Given the description of an element on the screen output the (x, y) to click on. 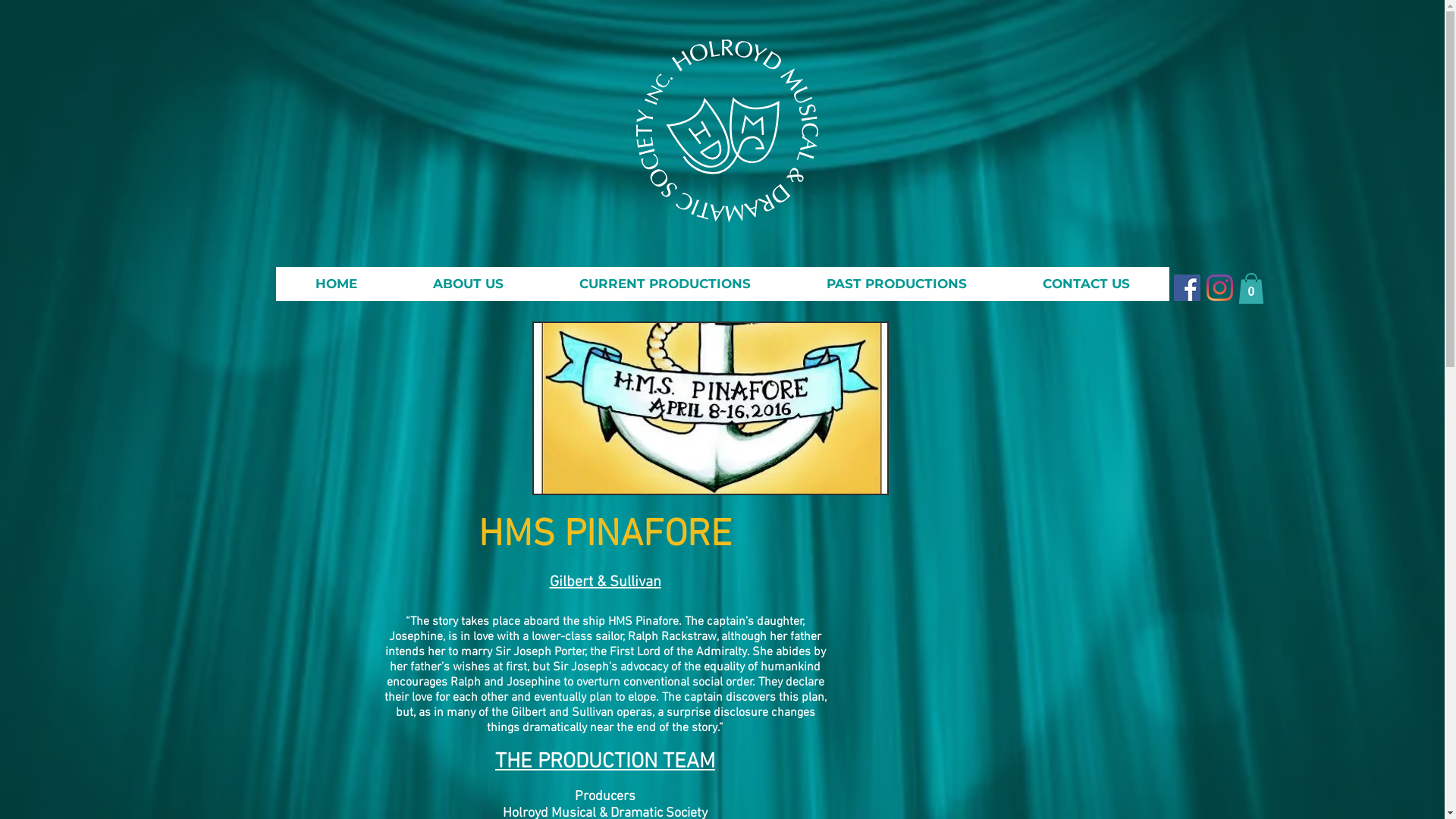
PAST PRODUCTIONS Element type: text (896, 283)
0 Element type: text (1250, 288)
ABOUT US Element type: text (467, 283)
HMS PINAFORE.jpg Element type: hover (710, 408)
HOME Element type: text (335, 283)
CONTACT US Element type: text (1085, 283)
CURRENT PRODUCTIONS Element type: text (664, 283)
